Given the description of an element on the screen output the (x, y) to click on. 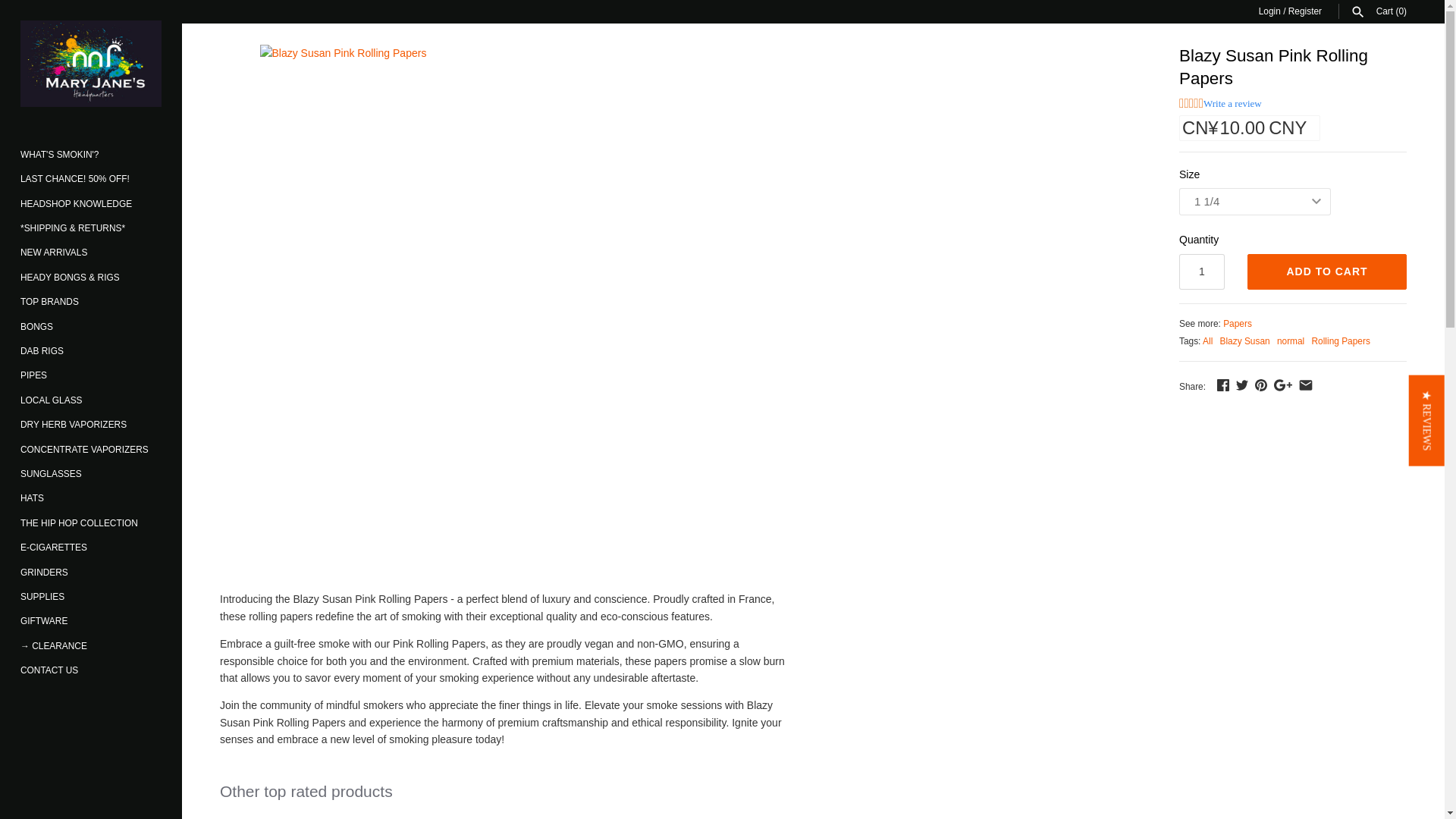
BONGS (90, 326)
Register (1305, 10)
1 (1201, 271)
Share using email (1305, 385)
Search (1358, 11)
Papers (1237, 323)
Login (1270, 10)
GooglePlus (1283, 385)
Pin the main image (1260, 385)
Twitter (1241, 385)
HEADSHOP KNOWLEDGE (90, 203)
Share on Facebook (1222, 385)
Facebook (1222, 385)
NEW ARRIVALS (90, 252)
